Given the description of an element on the screen output the (x, y) to click on. 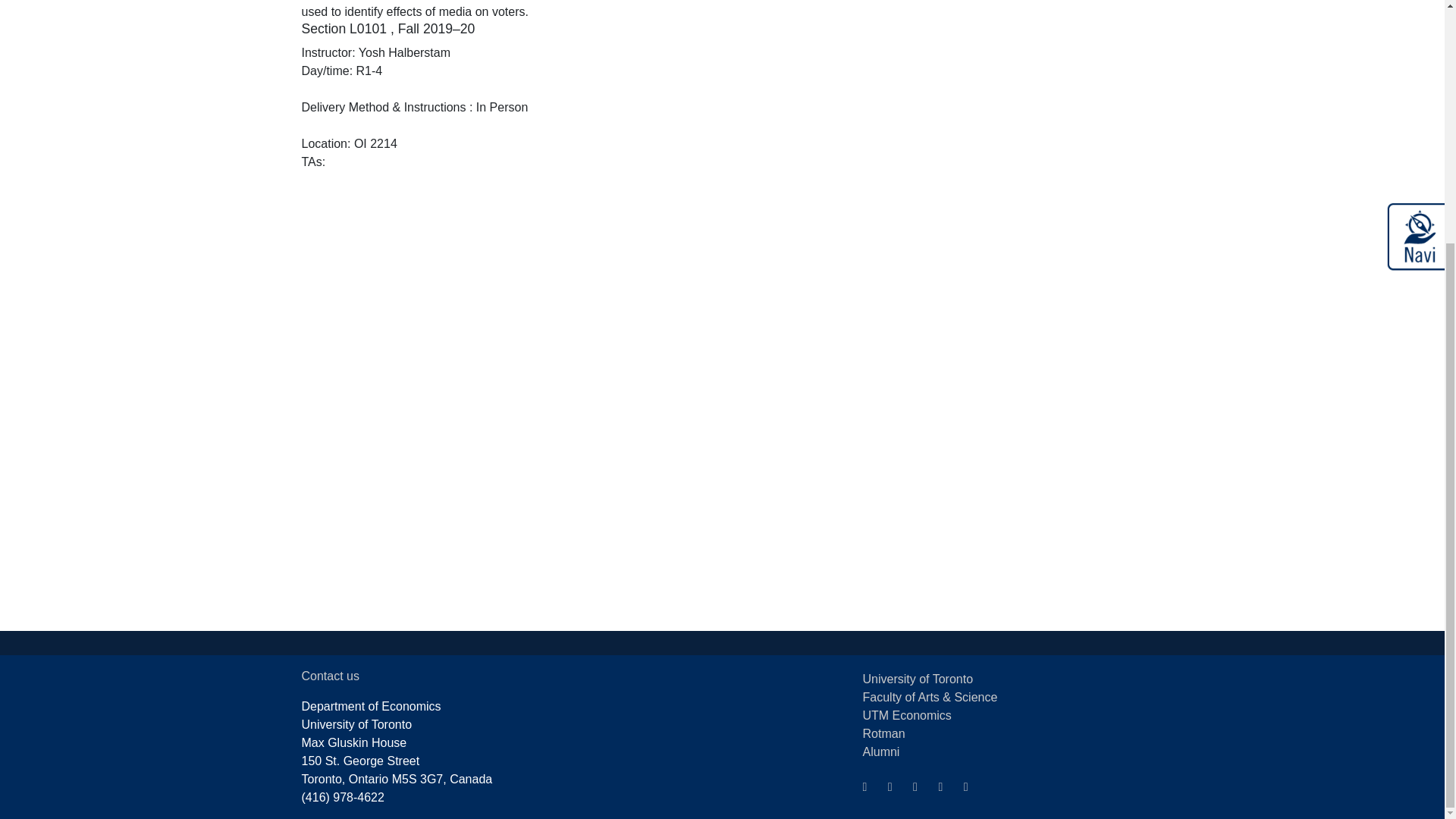
UofT Economics on YouTube (919, 784)
Follow UofT Economics on Twitter (869, 784)
UofT Economics on Instagram (944, 784)
Department of Economics, on LinkedIn (894, 784)
